Given the description of an element on the screen output the (x, y) to click on. 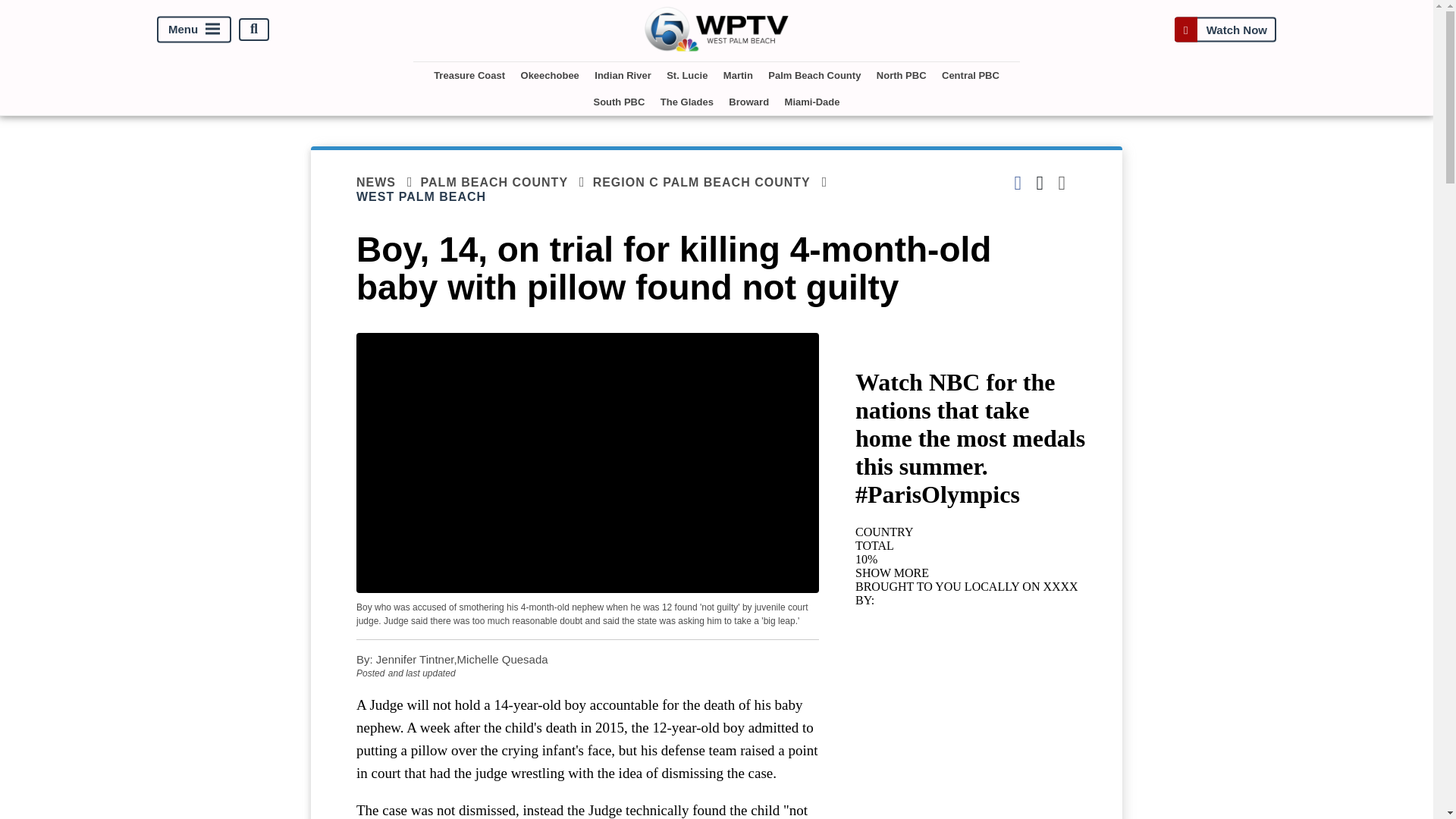
Watch Now (1224, 29)
Menu (194, 28)
